Given the description of an element on the screen output the (x, y) to click on. 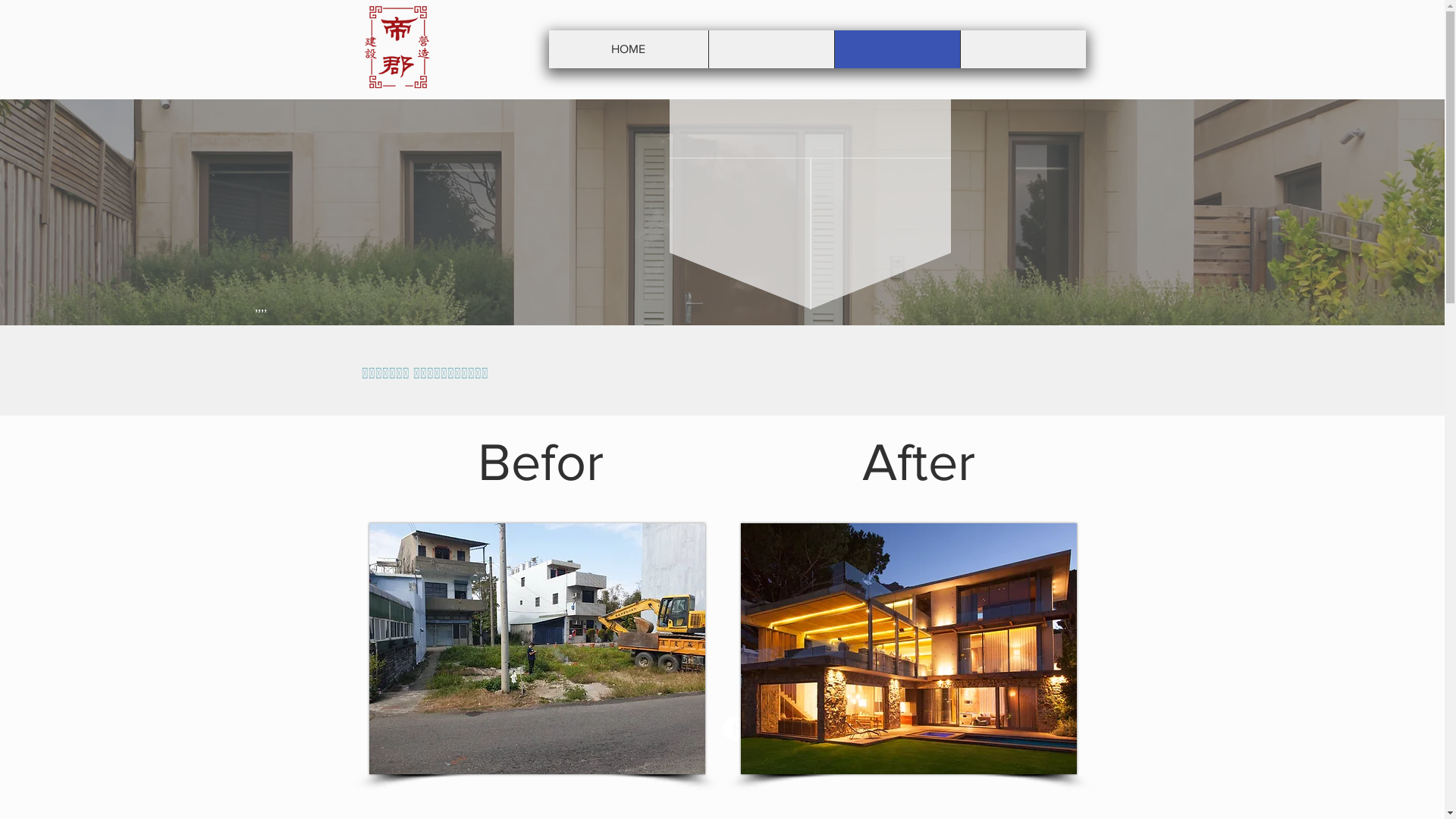
HOME Element type: text (628, 49)
